Given the description of an element on the screen output the (x, y) to click on. 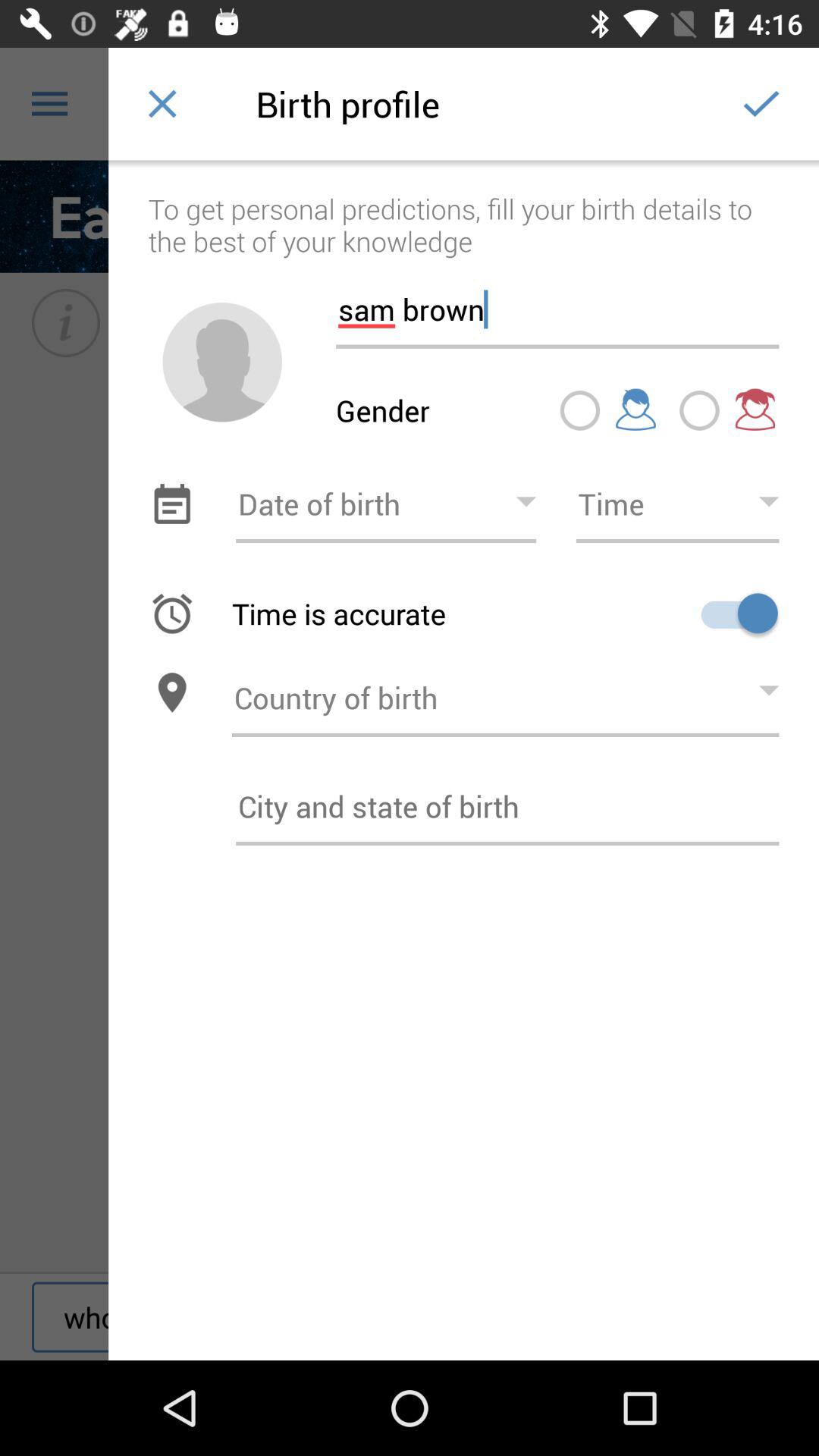
jump to the to get personal icon (463, 209)
